Given the description of an element on the screen output the (x, y) to click on. 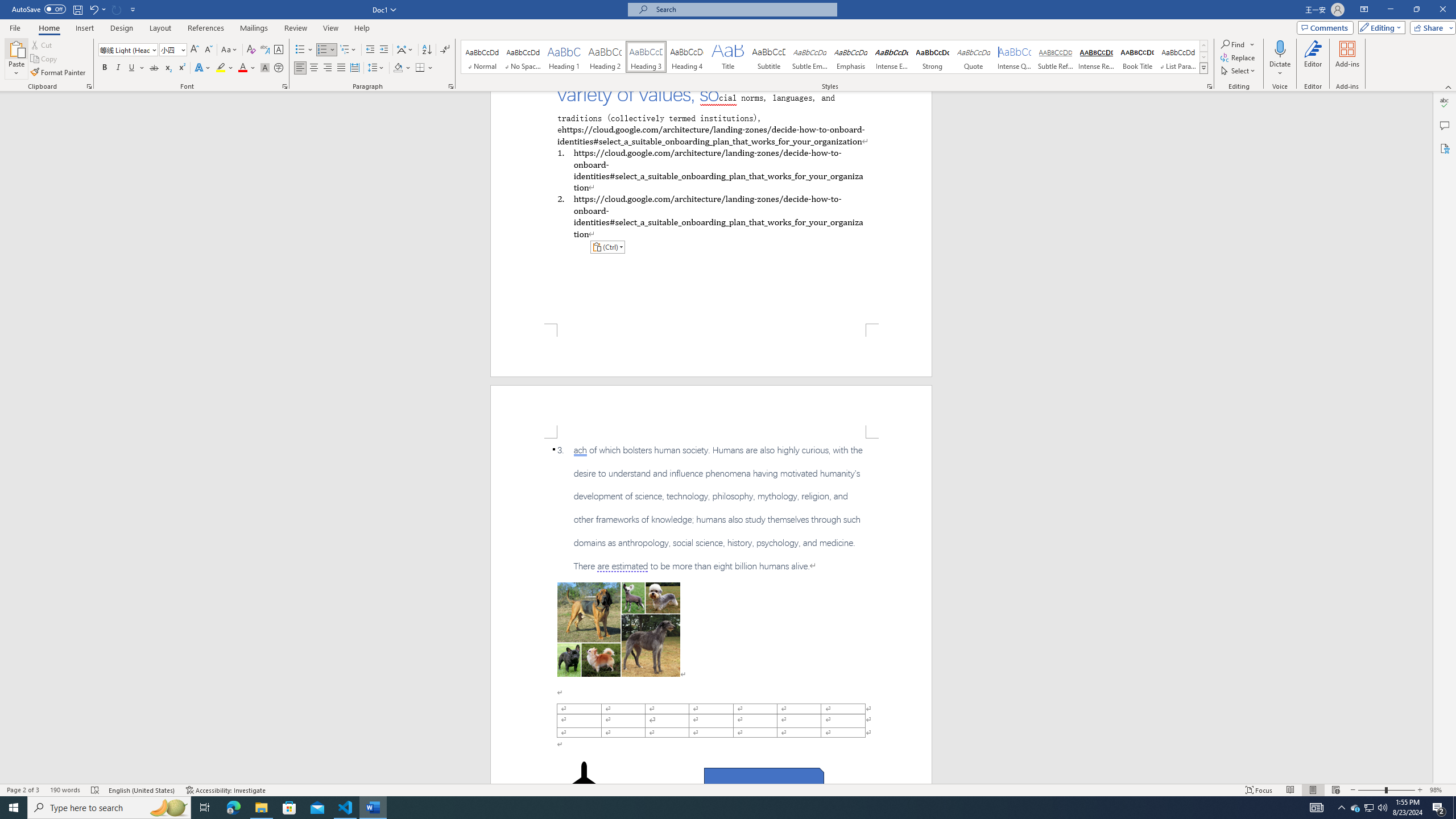
Shading RGB(0, 0, 0) (397, 67)
Strong (932, 56)
Replace... (1237, 56)
Multilevel List (347, 49)
Font Color (246, 67)
Show/Hide Editing Marks (444, 49)
Asian Layout (405, 49)
Heading 1 (564, 56)
